Given the description of an element on the screen output the (x, y) to click on. 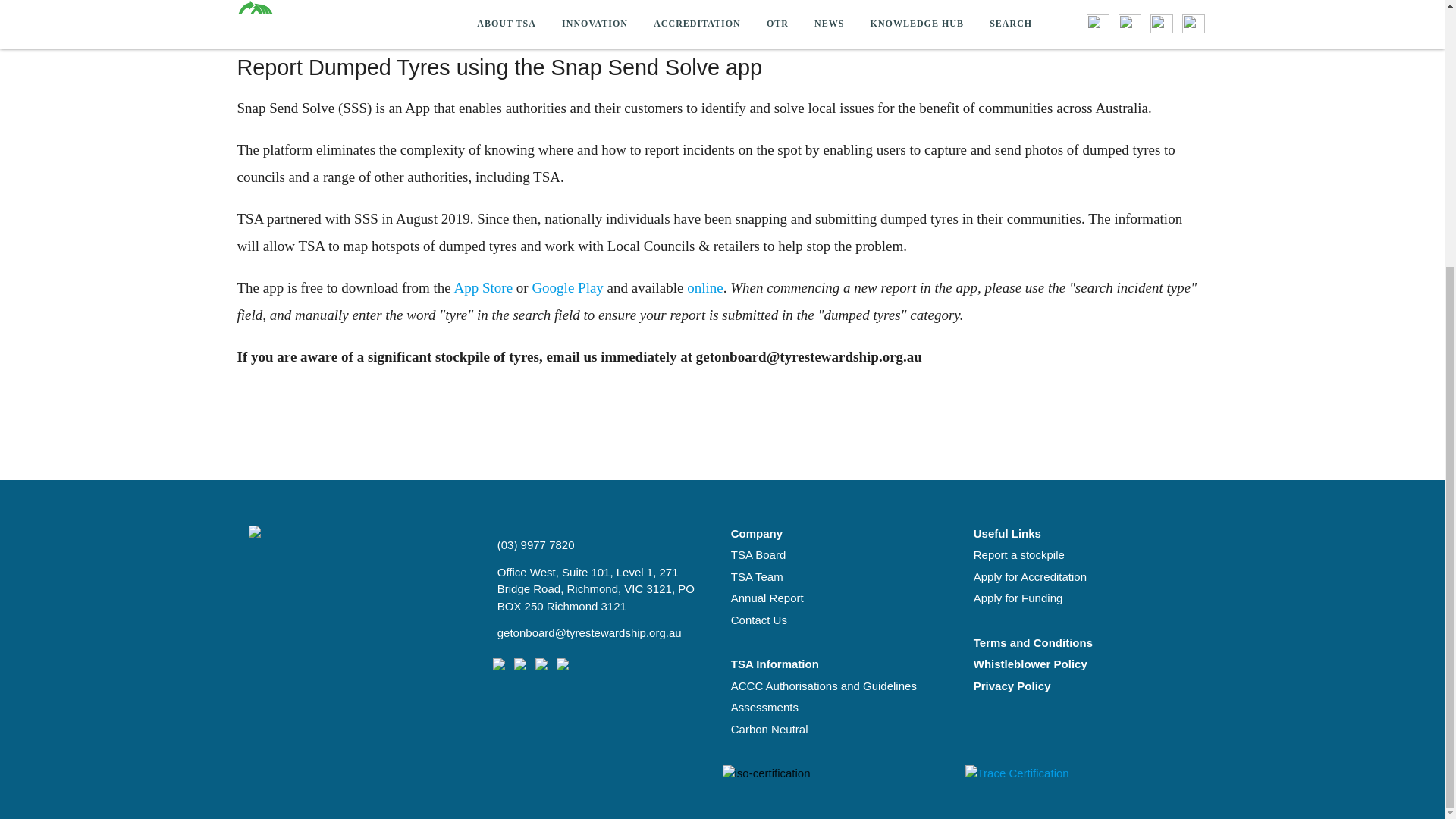
Facebook (498, 670)
Youtube (562, 670)
Linkedin (541, 670)
Twitter (520, 670)
